Given the description of an element on the screen output the (x, y) to click on. 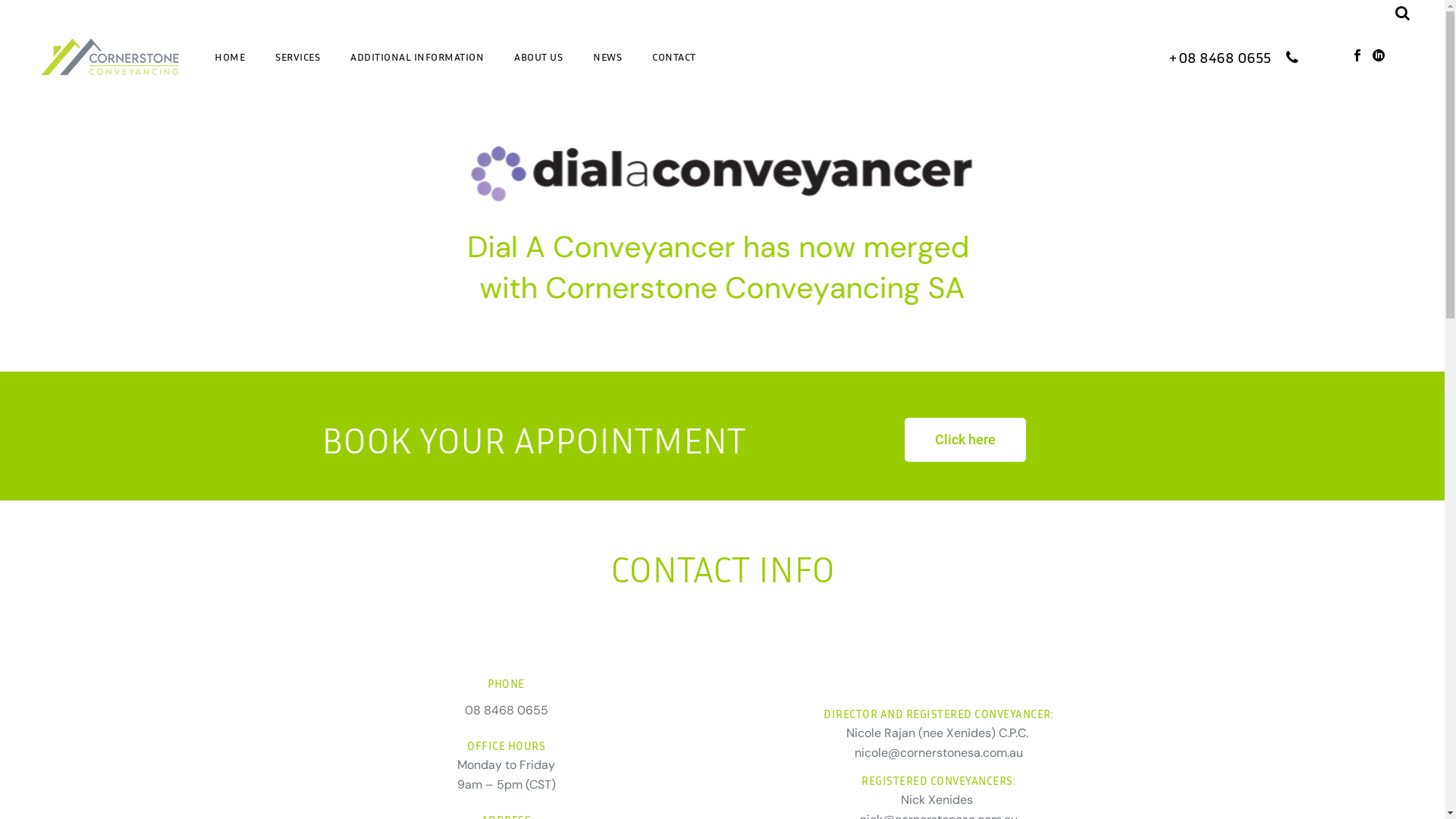
ADDITIONAL INFORMATION Element type: text (416, 56)
CONTACT Element type: text (674, 56)
+08 8468 0655 Element type: text (1233, 56)
SERVICES Element type: text (297, 56)
08 8468 0655 Element type: text (505, 710)
ABOUT US Element type: text (537, 56)
nicole@cornerstonesa.com.au Element type: text (937, 752)
Click here Element type: text (965, 439)
HOME Element type: text (229, 56)
NEWS Element type: text (607, 56)
